Given the description of an element on the screen output the (x, y) to click on. 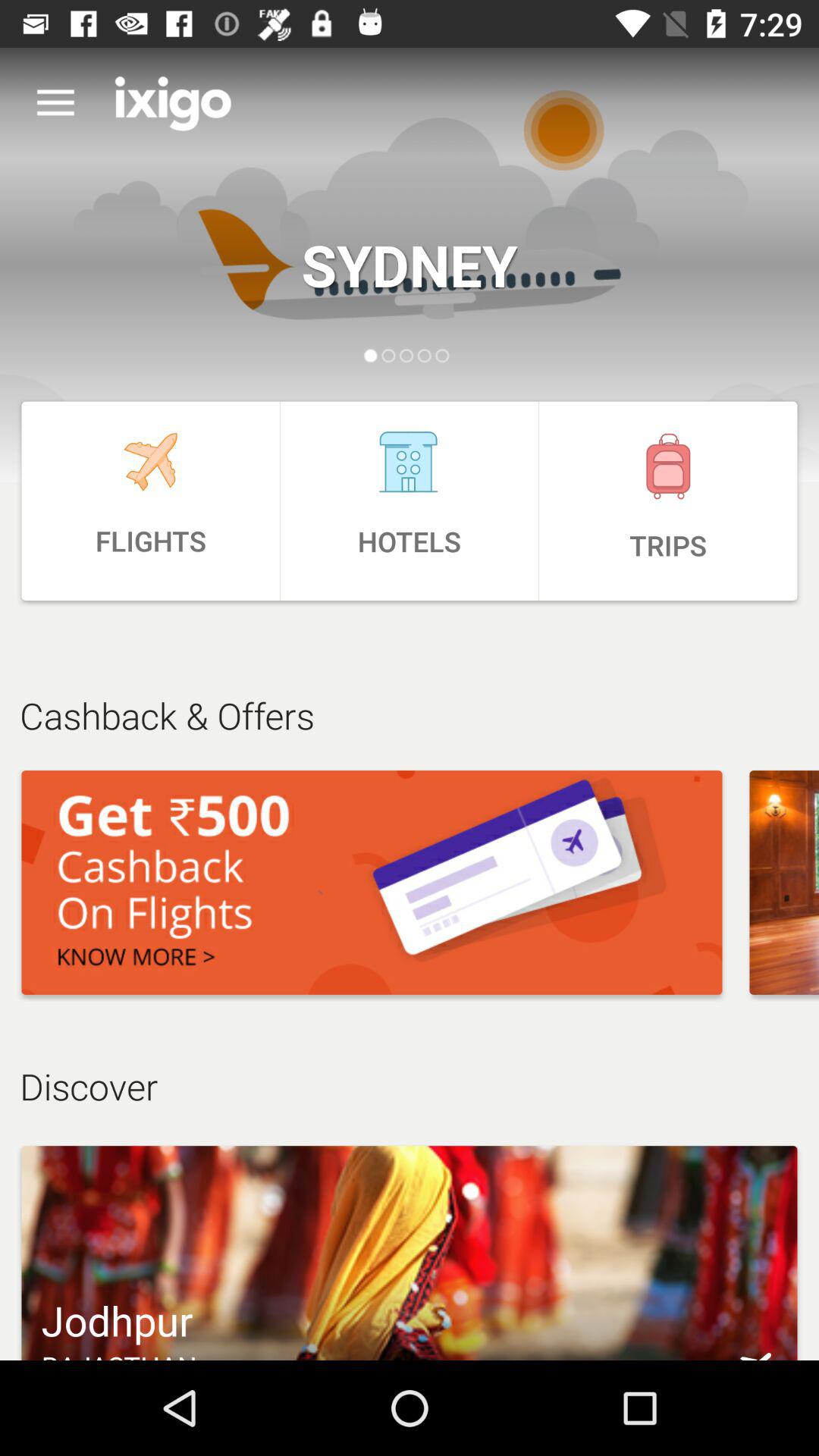
tap the icon to the right of the hotels item (668, 500)
